Given the description of an element on the screen output the (x, y) to click on. 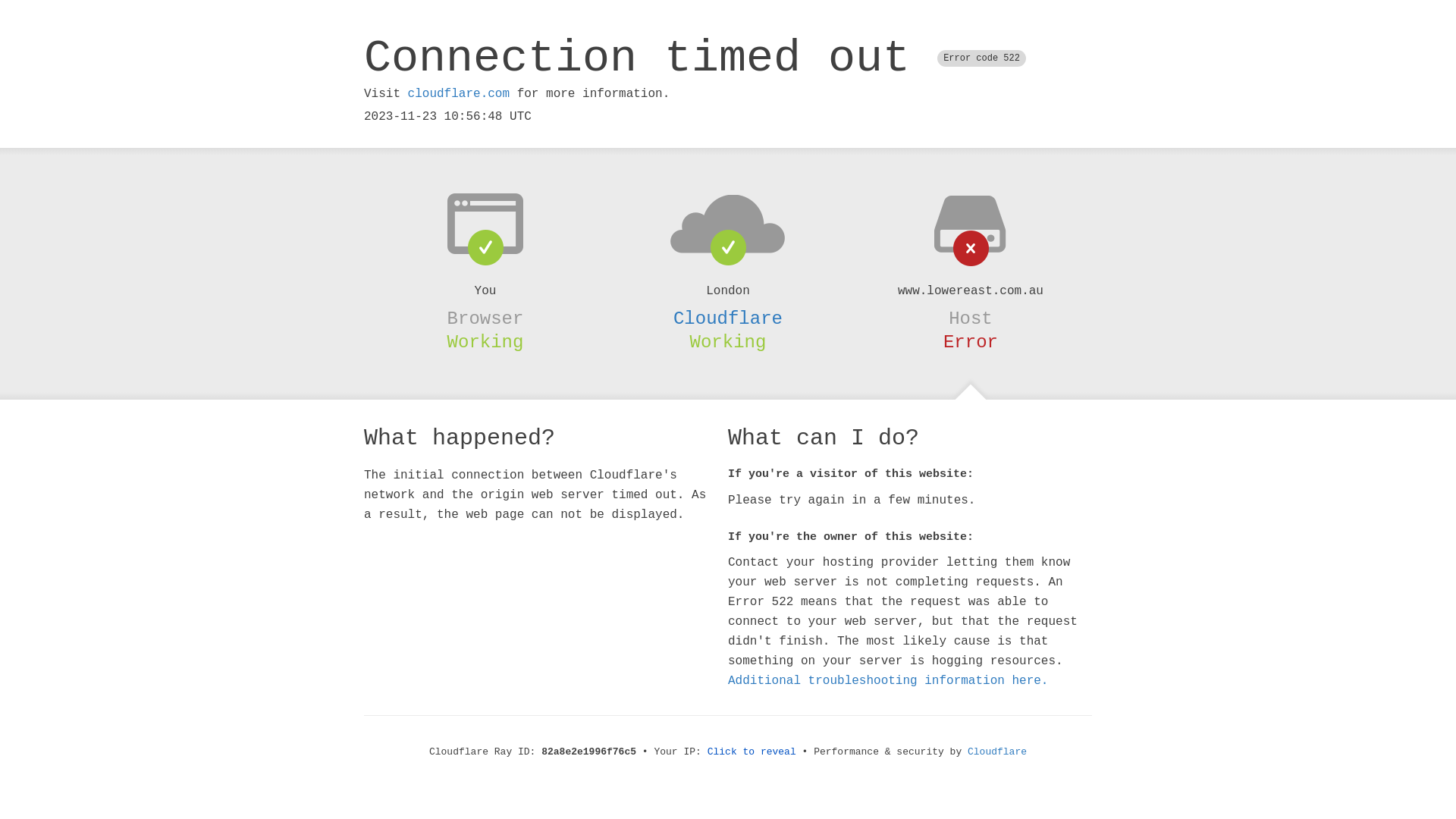
Click to reveal Element type: text (751, 751)
Cloudflare Element type: text (996, 751)
Additional troubleshooting information here. Element type: text (888, 680)
cloudflare.com Element type: text (458, 93)
Cloudflare Element type: text (727, 318)
